Given the description of an element on the screen output the (x, y) to click on. 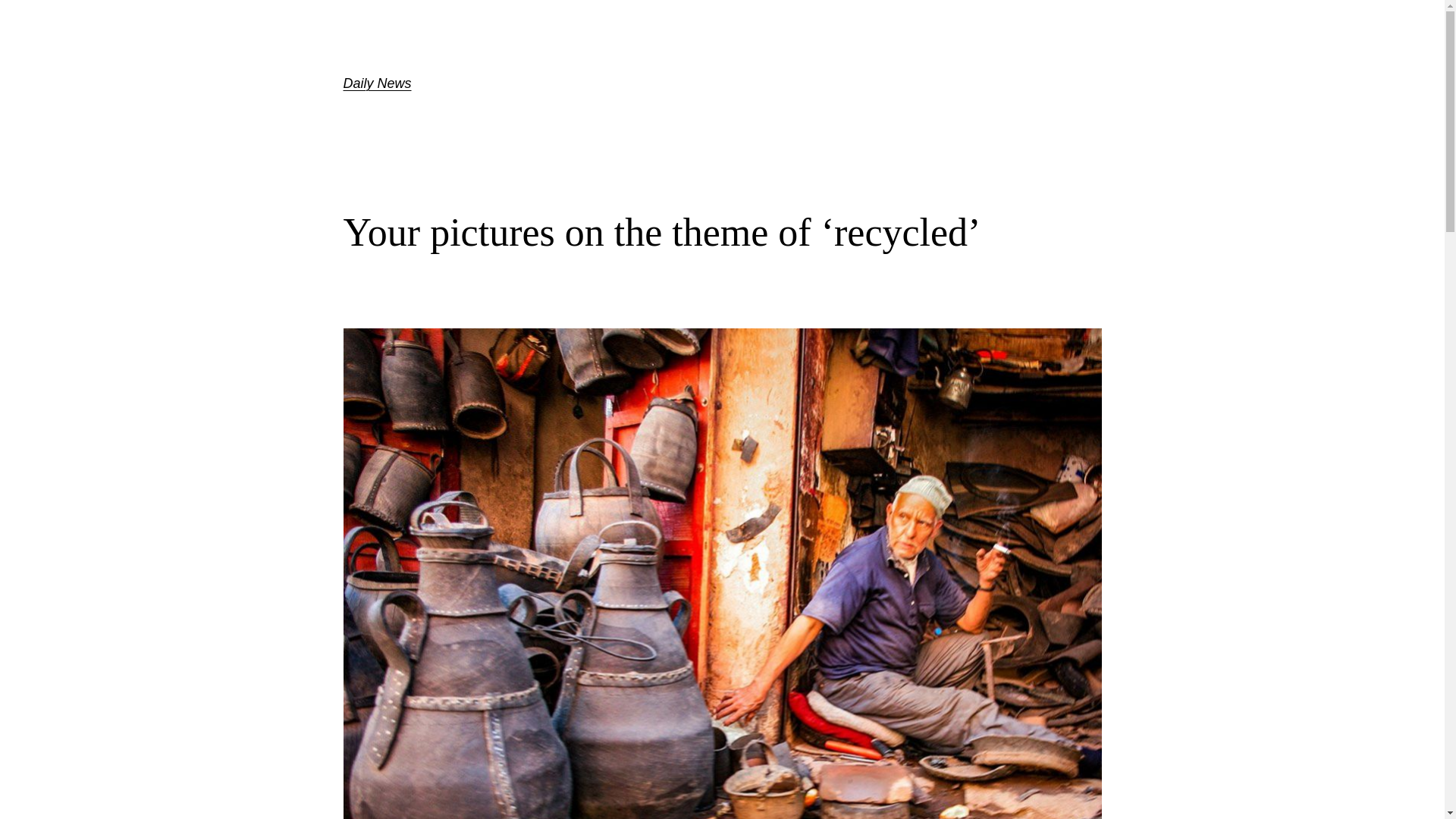
Daily News (376, 83)
